Given the description of an element on the screen output the (x, y) to click on. 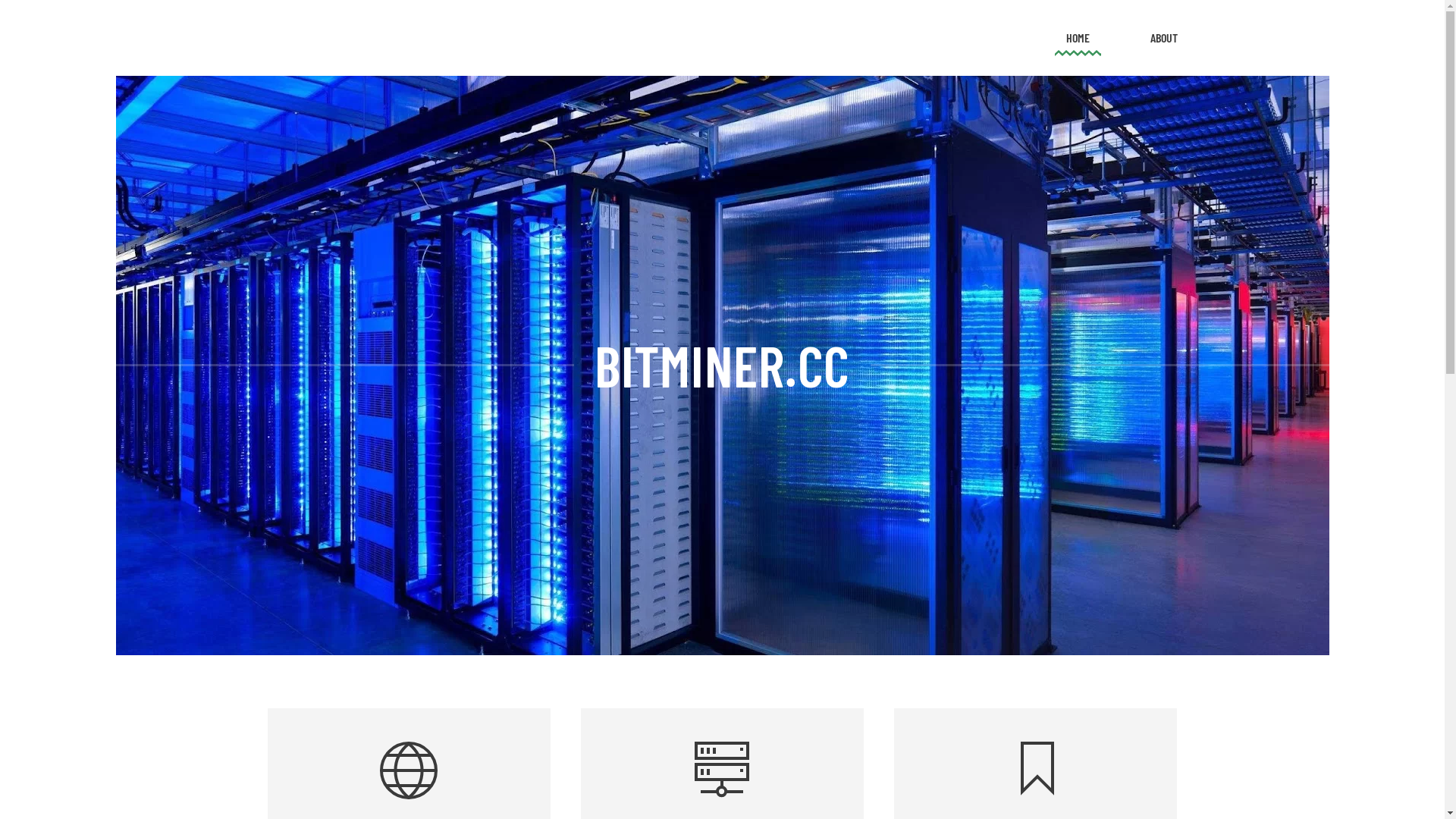
ABOUT Element type: text (1163, 37)
HOME Element type: text (1077, 37)
